Given the description of an element on the screen output the (x, y) to click on. 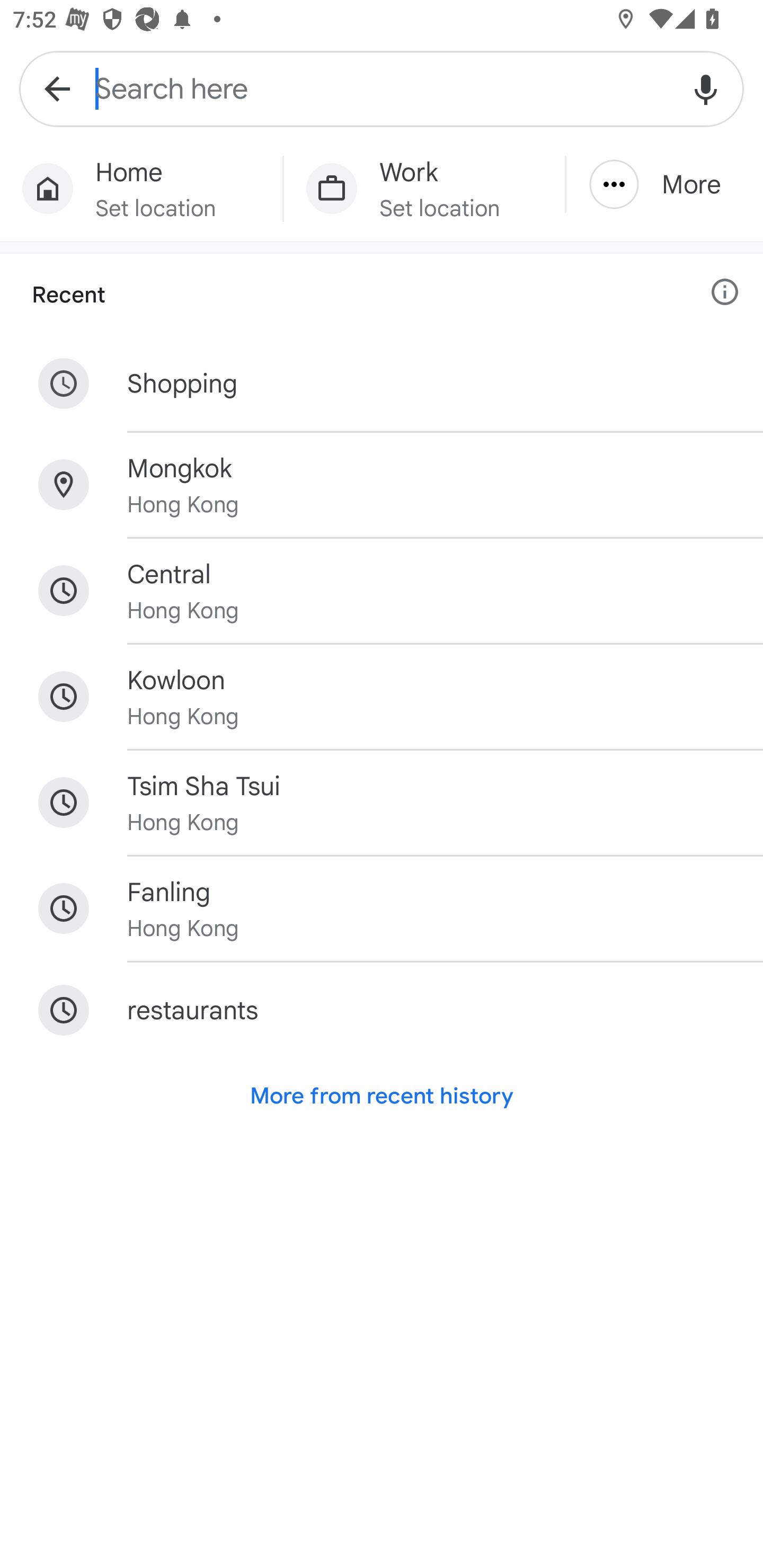
Navigate up (57, 88)
Search here (381, 88)
Voice search (705, 88)
Home Set location (141, 188)
Work Set location (423, 188)
More (664, 184)
Shopping (381, 383)
Mongkok Hong Kong (381, 484)
Central Hong Kong (381, 590)
Kowloon Hong Kong (381, 696)
Tsim Sha Tsui Hong Kong (381, 802)
Fanling Hong Kong (381, 908)
restaurants (381, 1010)
More from recent history (381, 1095)
